Given the description of an element on the screen output the (x, y) to click on. 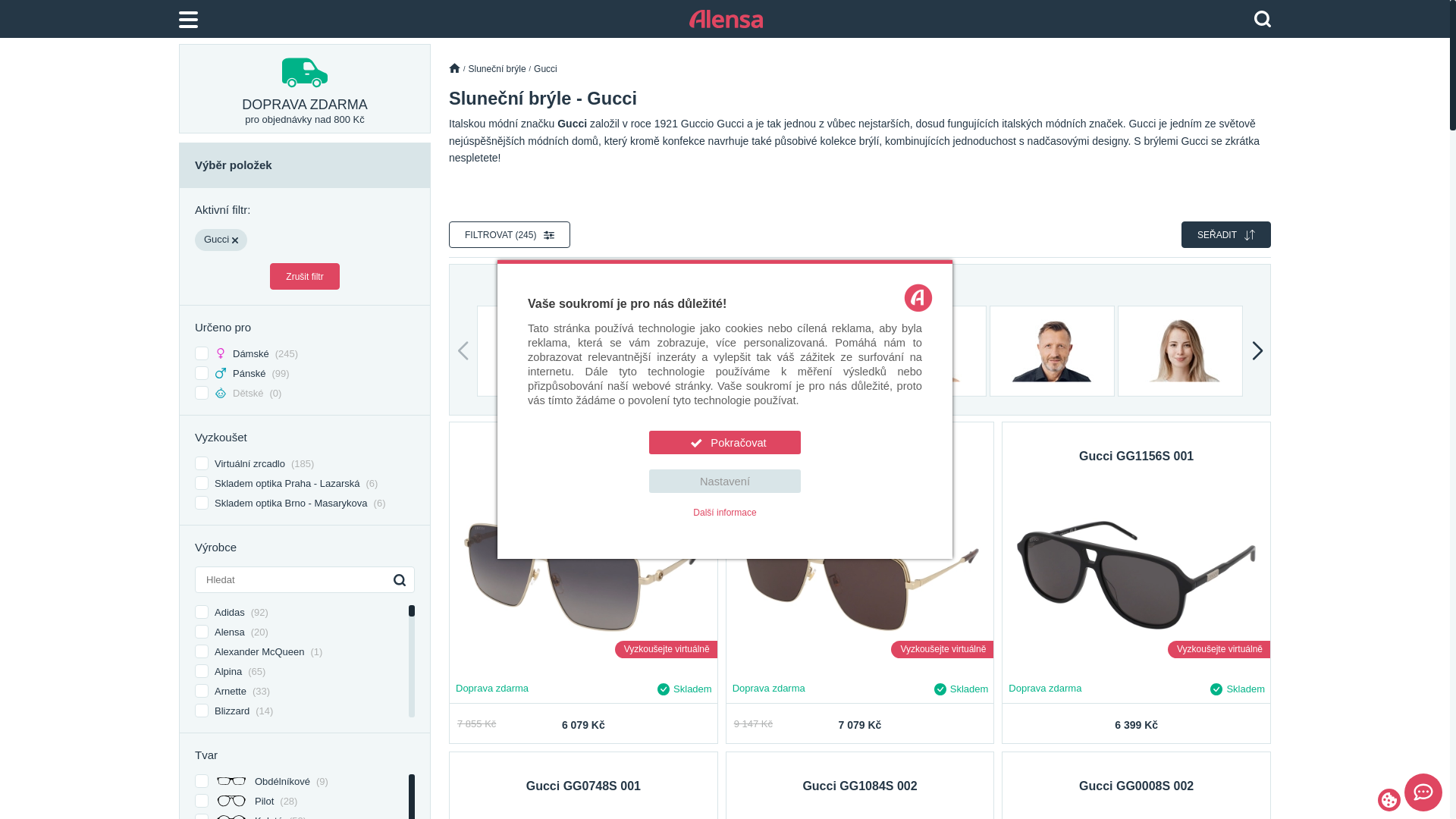
Hledat
 Element type: hover (1262, 18)
FILTROVAT (245) Element type: text (509, 234)
Gucci Element type: text (220, 240)
Gucci Element type: text (545, 68)
